Given the description of an element on the screen output the (x, y) to click on. 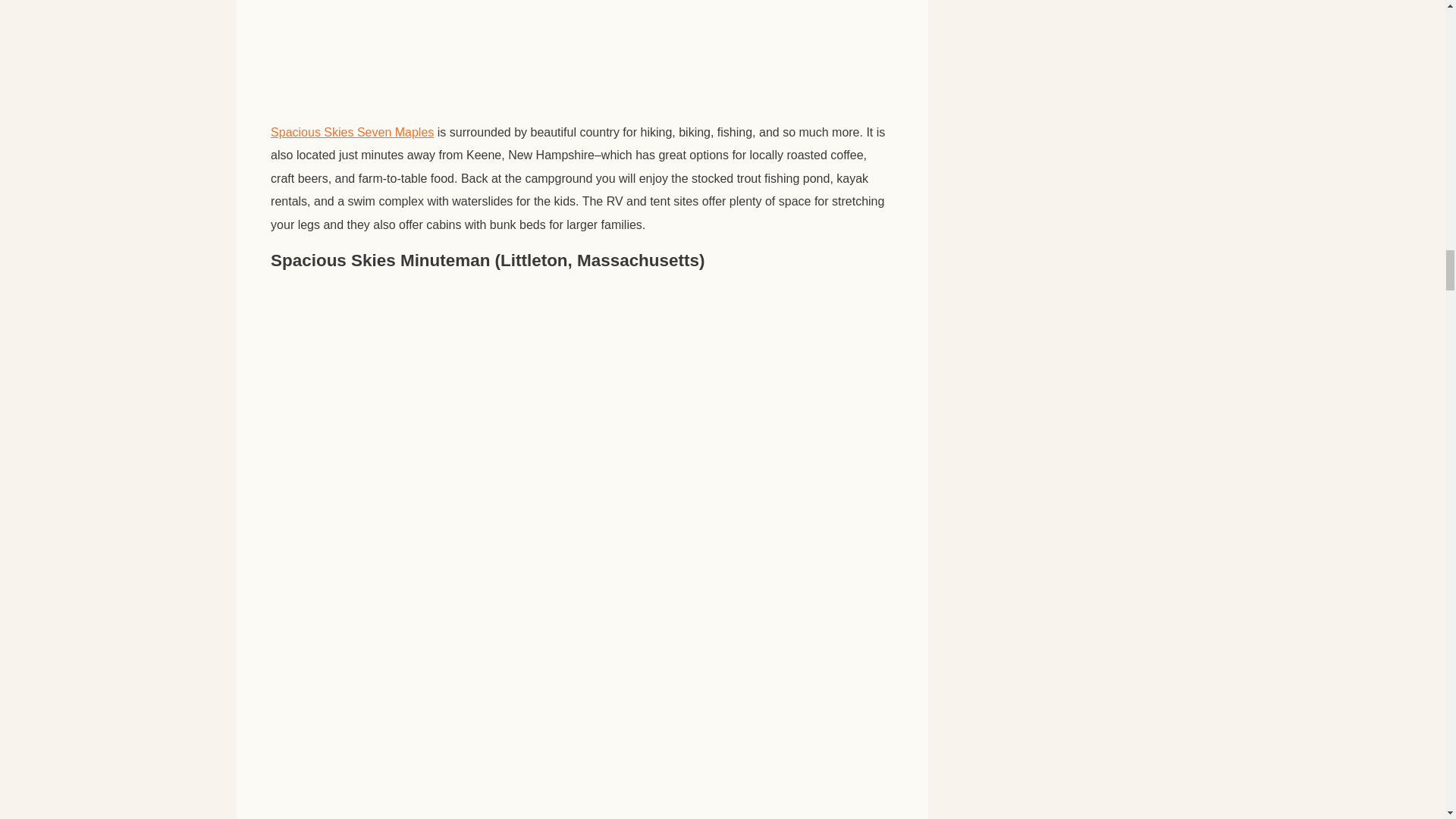
Spacious Skies Seven Maples (351, 132)
